Given the description of an element on the screen output the (x, y) to click on. 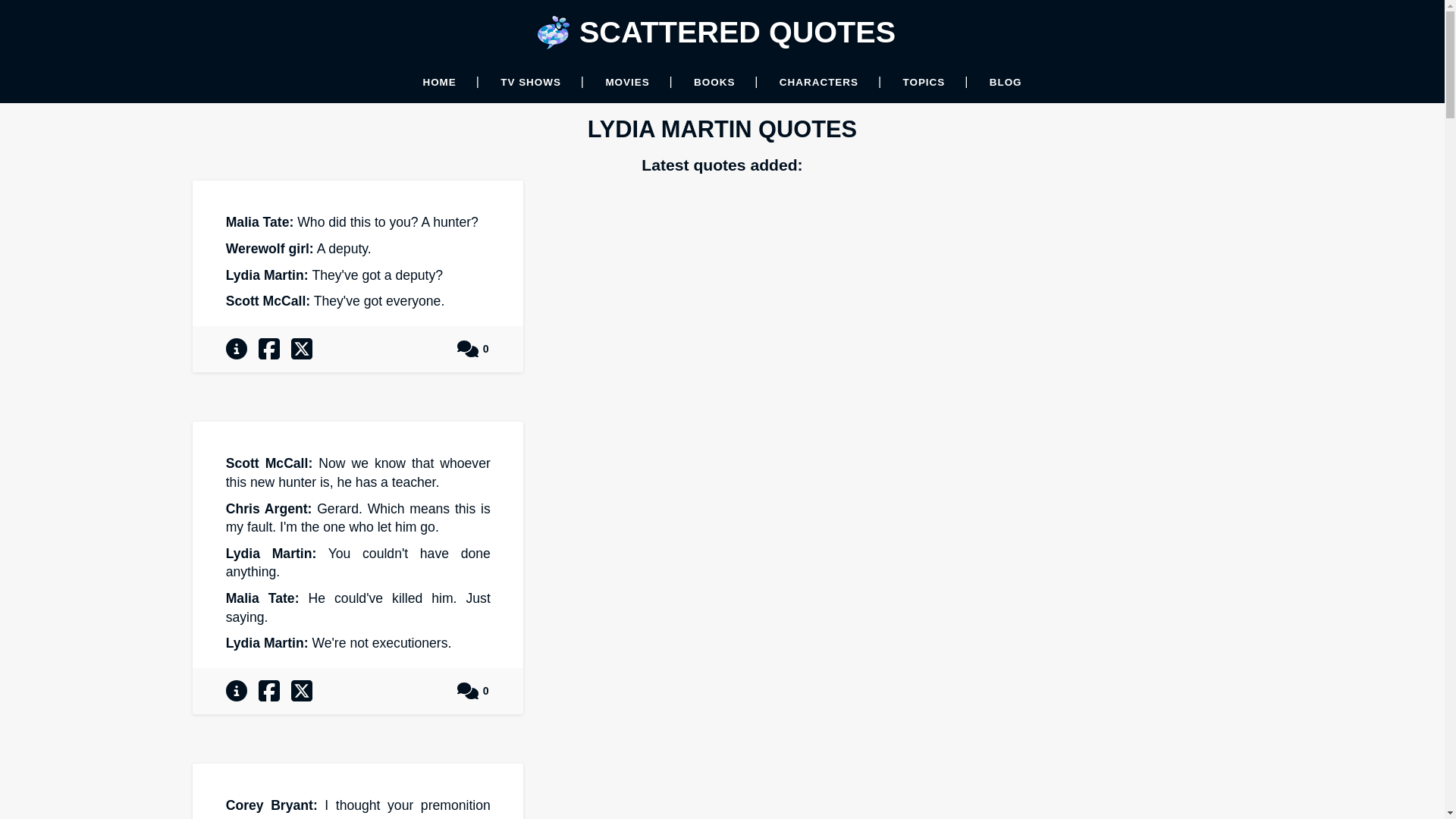
BLOG (1005, 82)
CHARACTERS (818, 82)
MOVIES (627, 82)
TV SHOWS (530, 82)
BOOKS (713, 82)
HOME (438, 82)
SCATTERED QUOTES (737, 31)
TOPICS (923, 82)
